Given the description of an element on the screen output the (x, y) to click on. 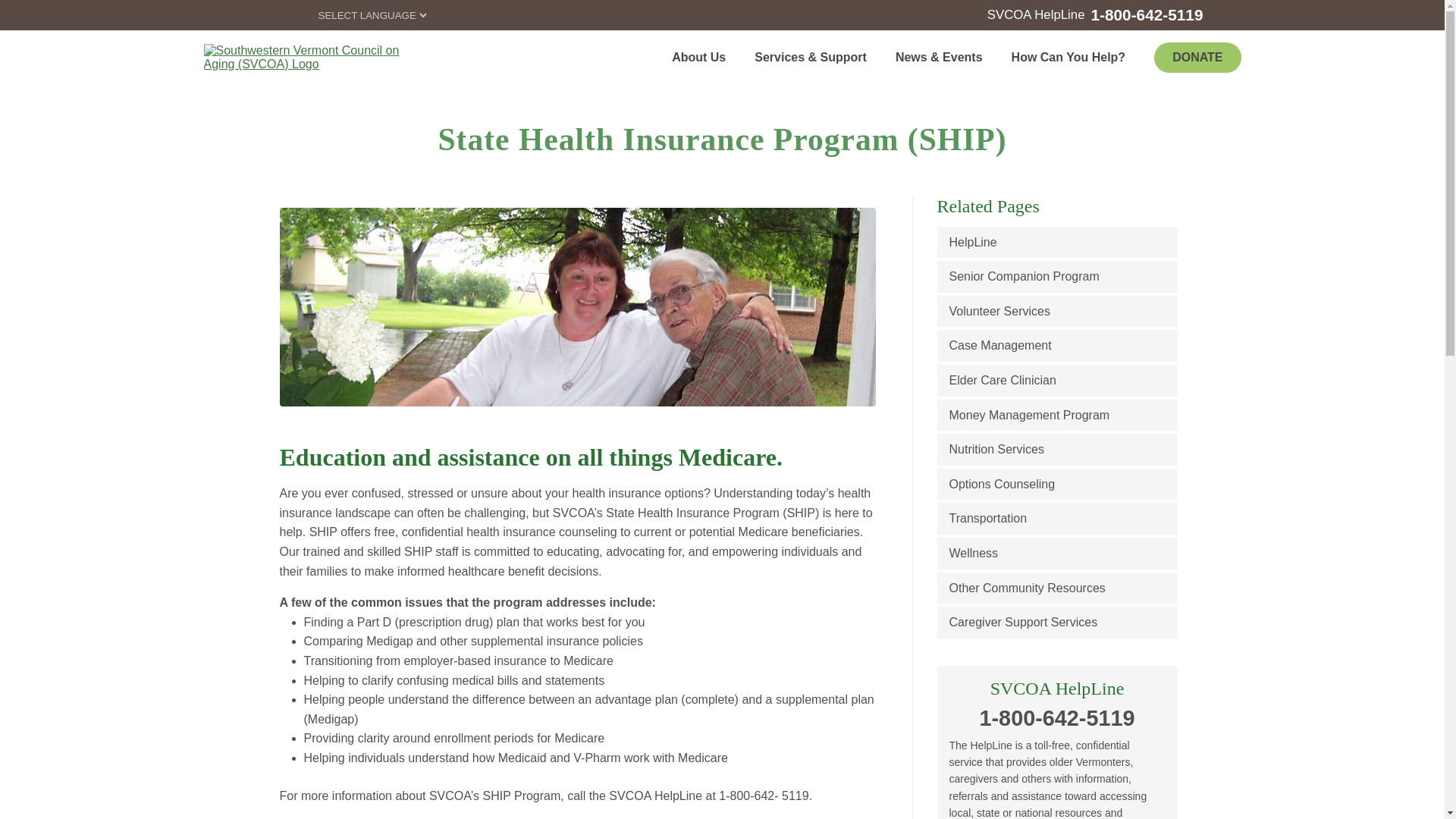
Return Home (301, 57)
Follow us on Instagram (269, 14)
About Us (700, 57)
1-800-642-5119 (1146, 14)
Find us on Facebook (242, 14)
Watch us on YouTube (295, 14)
How Can You Help? (1071, 57)
